Given the description of an element on the screen output the (x, y) to click on. 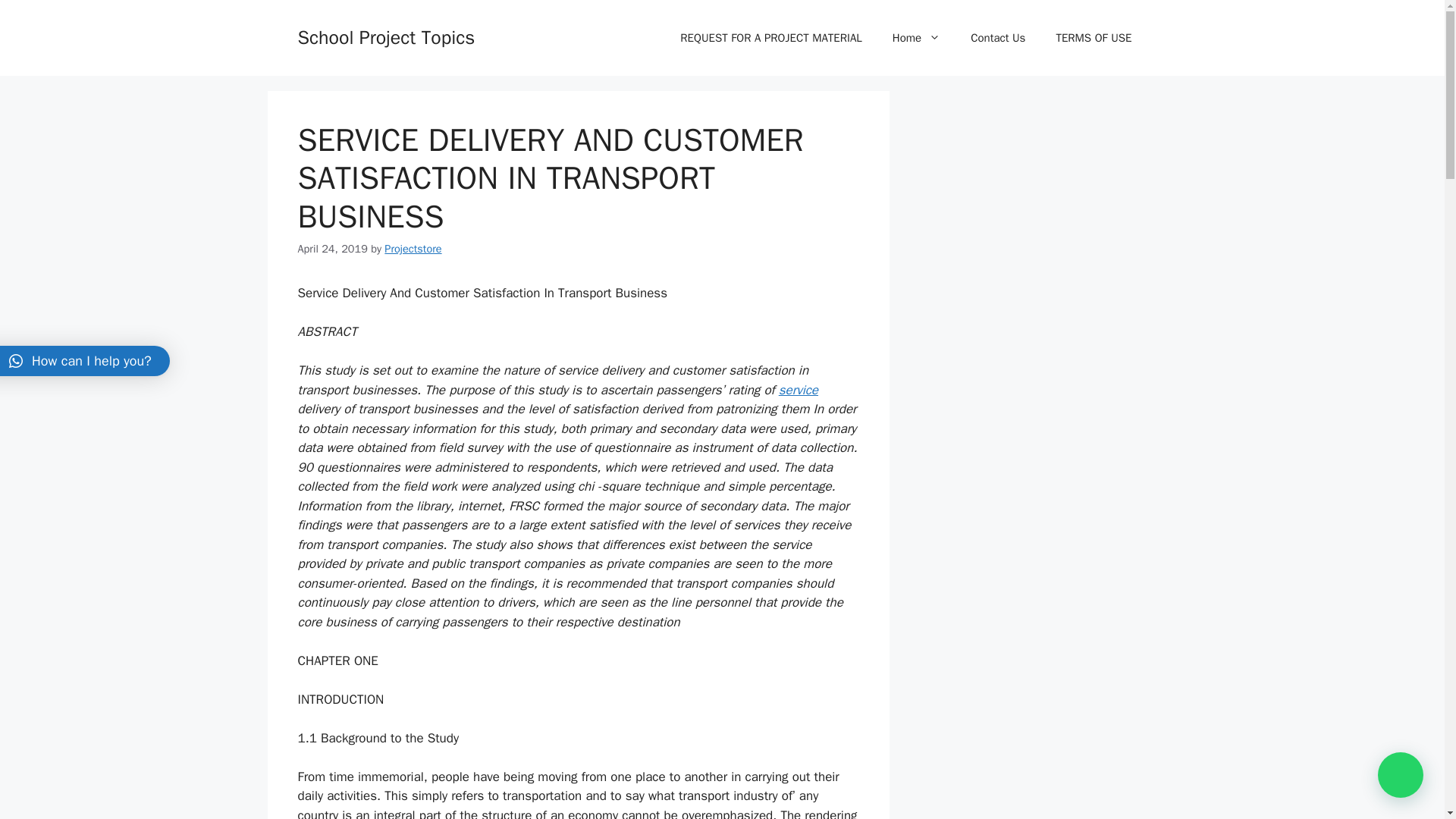
Home (916, 37)
School Project Topics (385, 37)
Projectstore (412, 248)
TERMS OF USE (1094, 37)
Contact Us (998, 37)
service (798, 390)
View all posts by Projectstore (412, 248)
How can I help you? (85, 360)
REQUEST FOR A PROJECT MATERIAL (771, 37)
